Given the description of an element on the screen output the (x, y) to click on. 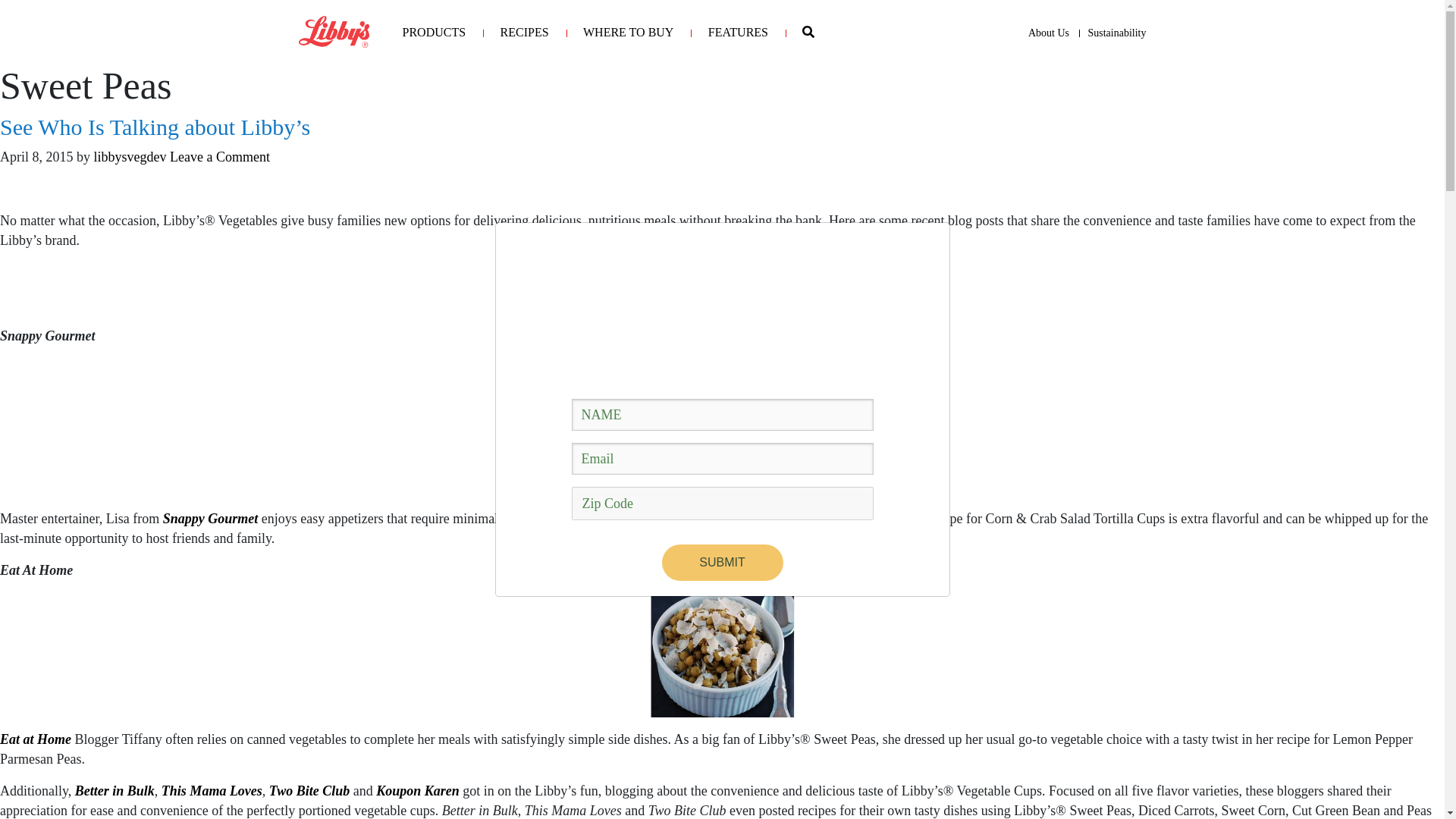
Sustainability (1116, 33)
About Us (1047, 33)
Leave a Comment (219, 157)
RECIPES (524, 32)
Snappy Gourmet  (212, 519)
Eat at Home (35, 739)
Better in Bulk (114, 790)
Logo (333, 31)
FEATURES (737, 32)
This Mama Loves (211, 790)
Koupon Karen (417, 790)
PRODUCTS (433, 32)
WHERE TO BUY (627, 32)
libbysvegdev (130, 157)
Two Bite Club (309, 790)
